Given the description of an element on the screen output the (x, y) to click on. 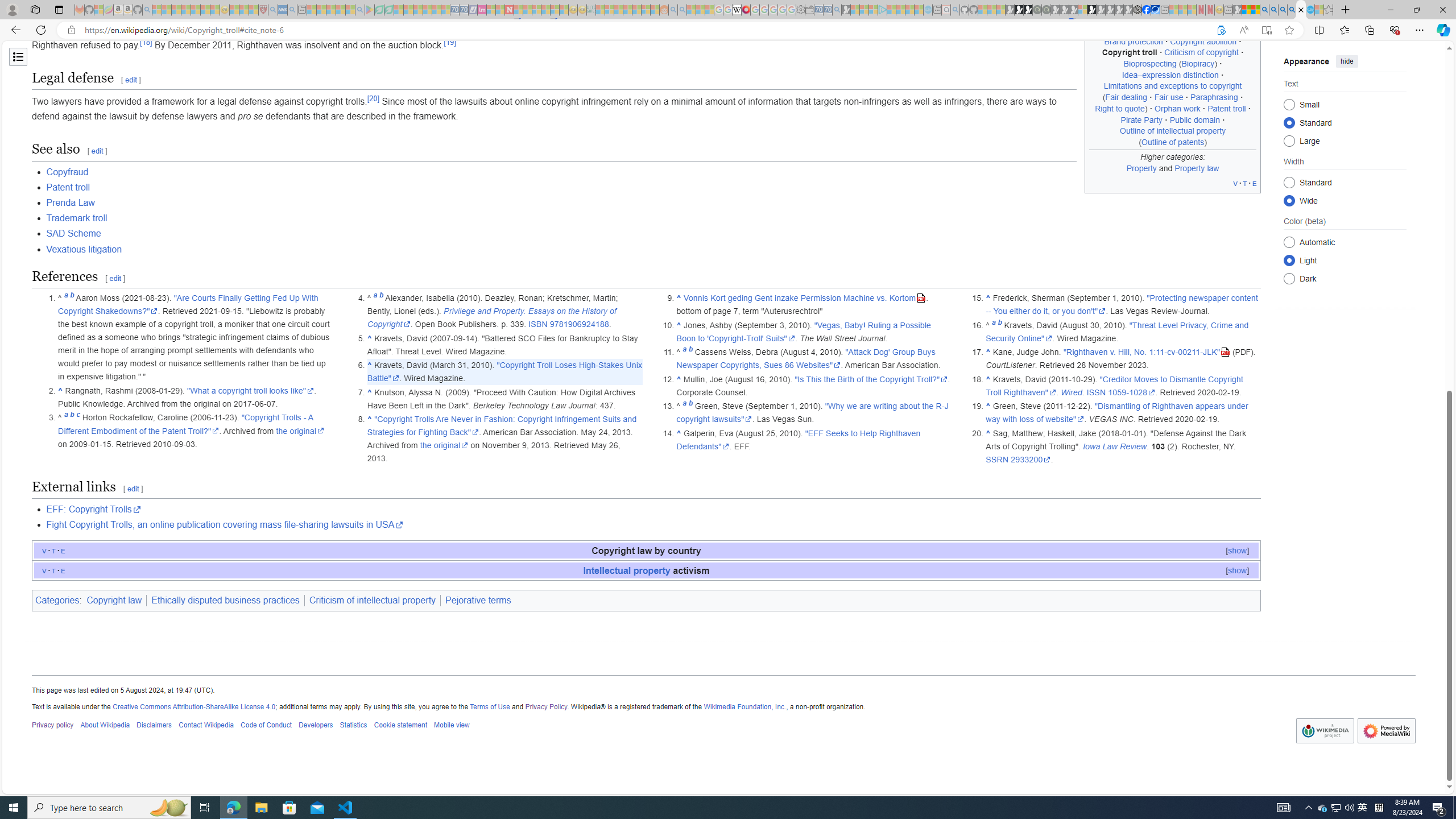
"Righthaven v. Hill, No. 1:11-cv-00211-JLK" (1146, 352)
Prenda Law (653, 202)
Iowa Law Review (1115, 446)
e (63, 569)
2009 Bing officially replaced Live Search on June 3 - Search (1272, 9)
Orphan work (1177, 108)
Biopiracy (1197, 63)
